Given the description of an element on the screen output the (x, y) to click on. 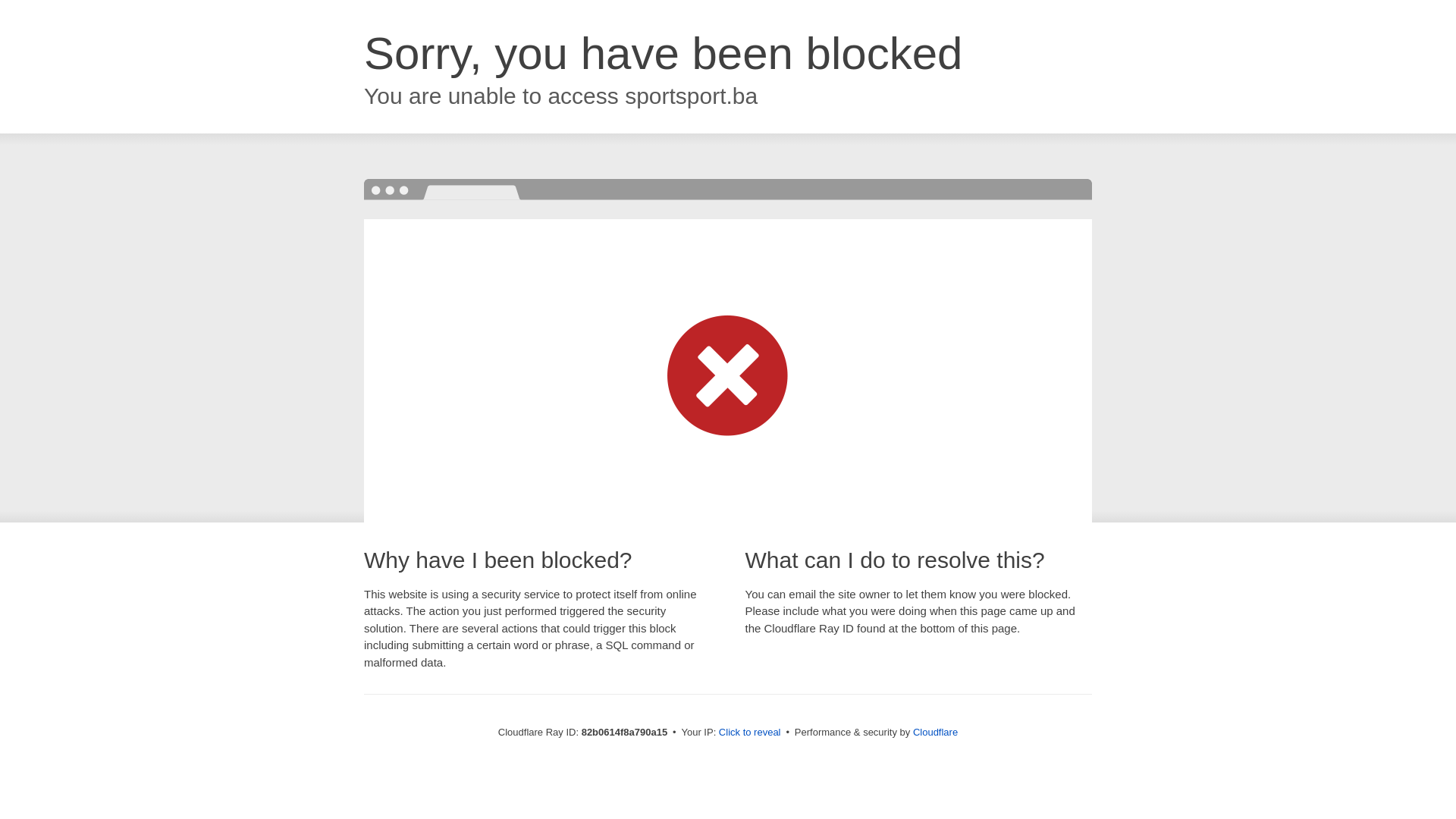
Click to reveal Element type: text (749, 732)
Cloudflare Element type: text (935, 731)
